Given the description of an element on the screen output the (x, y) to click on. 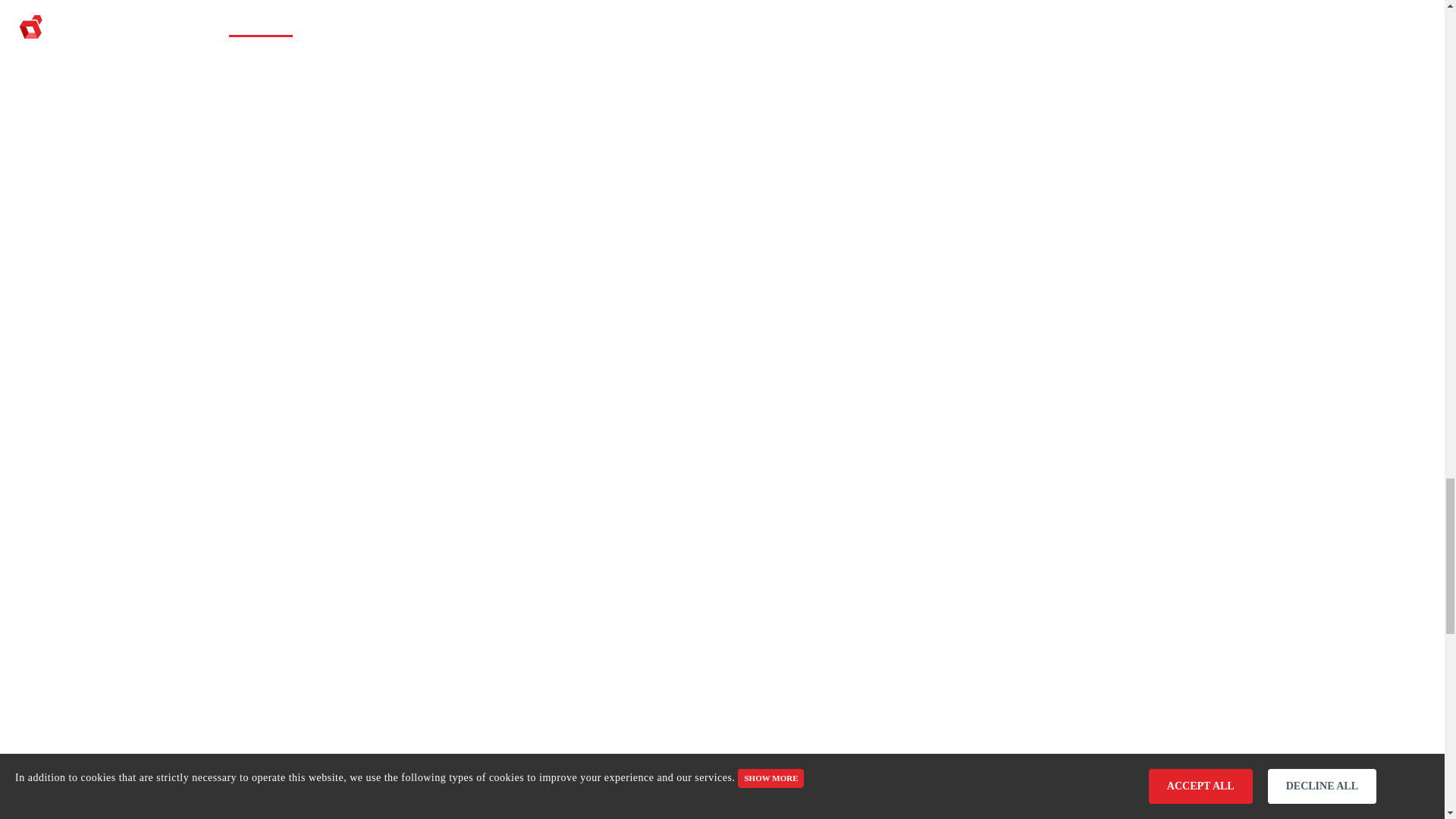
Easily Track Each Unit in Every Crate at Any Time (361, 759)
